Given the description of an element on the screen output the (x, y) to click on. 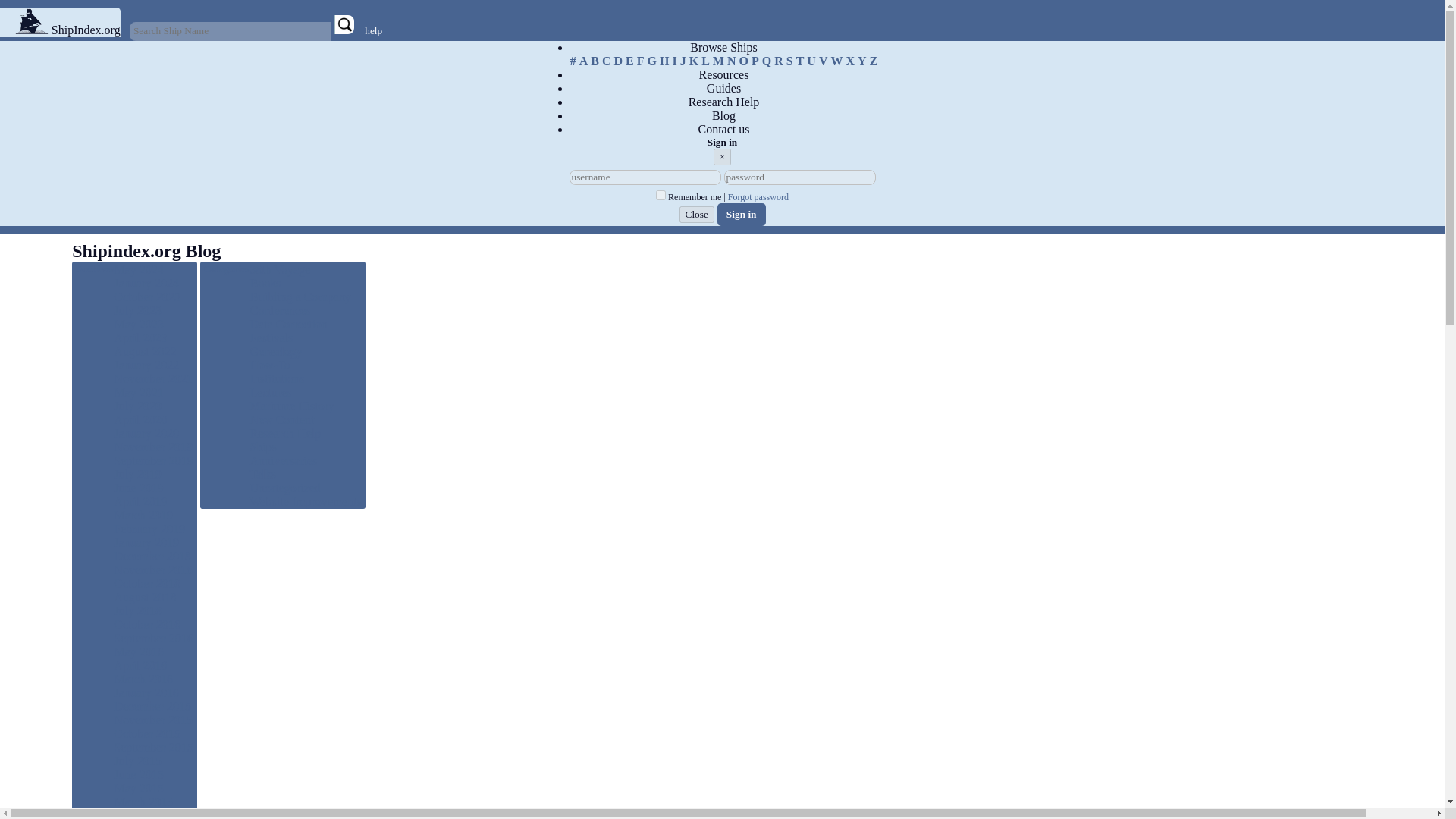
Guides (723, 88)
Research Help (724, 101)
W (836, 60)
help (373, 30)
Contact us (723, 129)
Close (696, 214)
Resources (723, 74)
Forgot password (758, 197)
ShipIndex.org (85, 29)
Sign in (741, 214)
